Given the description of an element on the screen output the (x, y) to click on. 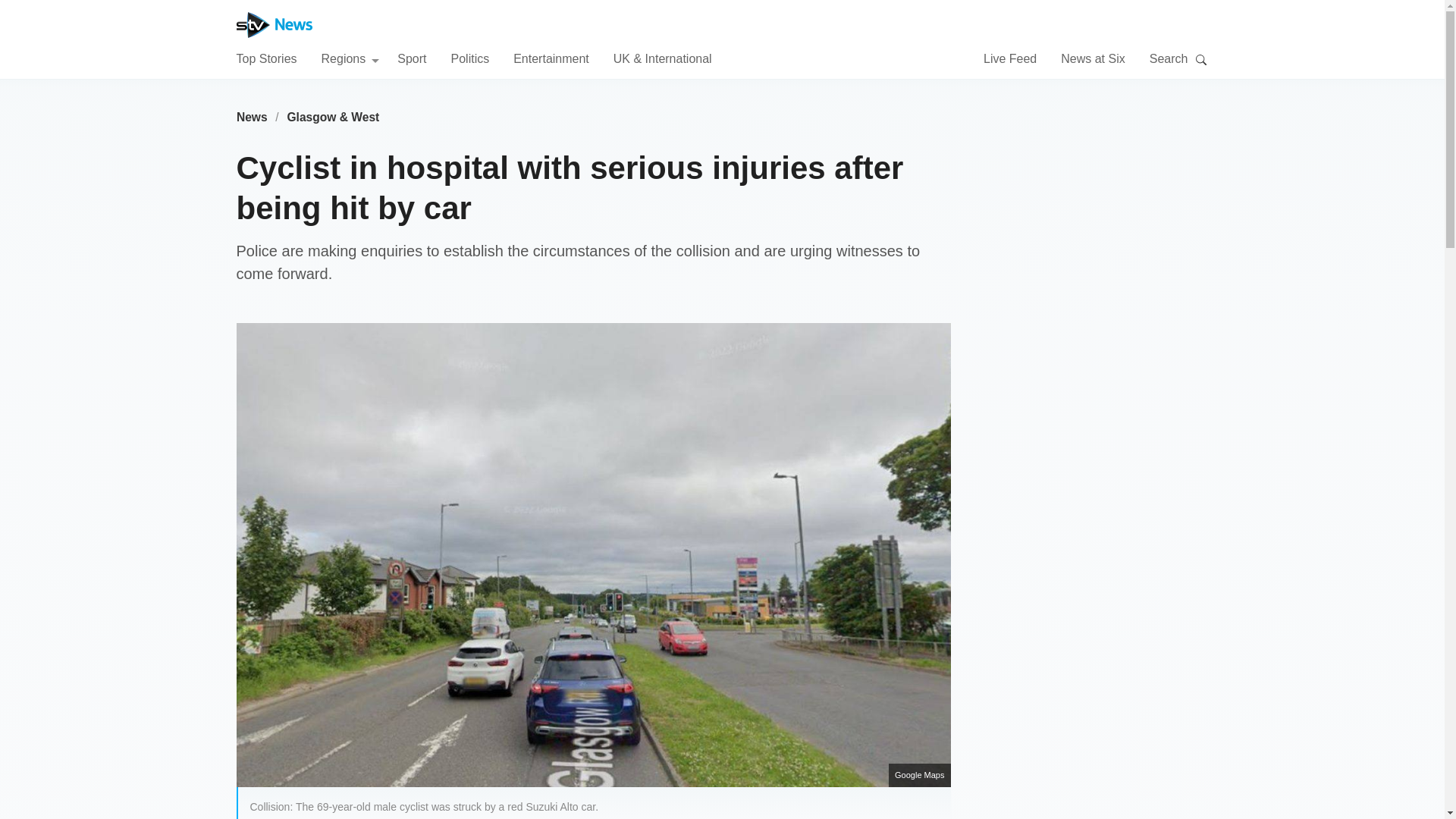
Top Stories (266, 57)
Search (1201, 59)
Live Feed (1010, 57)
Politics (469, 57)
Regions (350, 57)
News at Six (1092, 57)
News (252, 116)
Entertainment (551, 57)
